Given the description of an element on the screen output the (x, y) to click on. 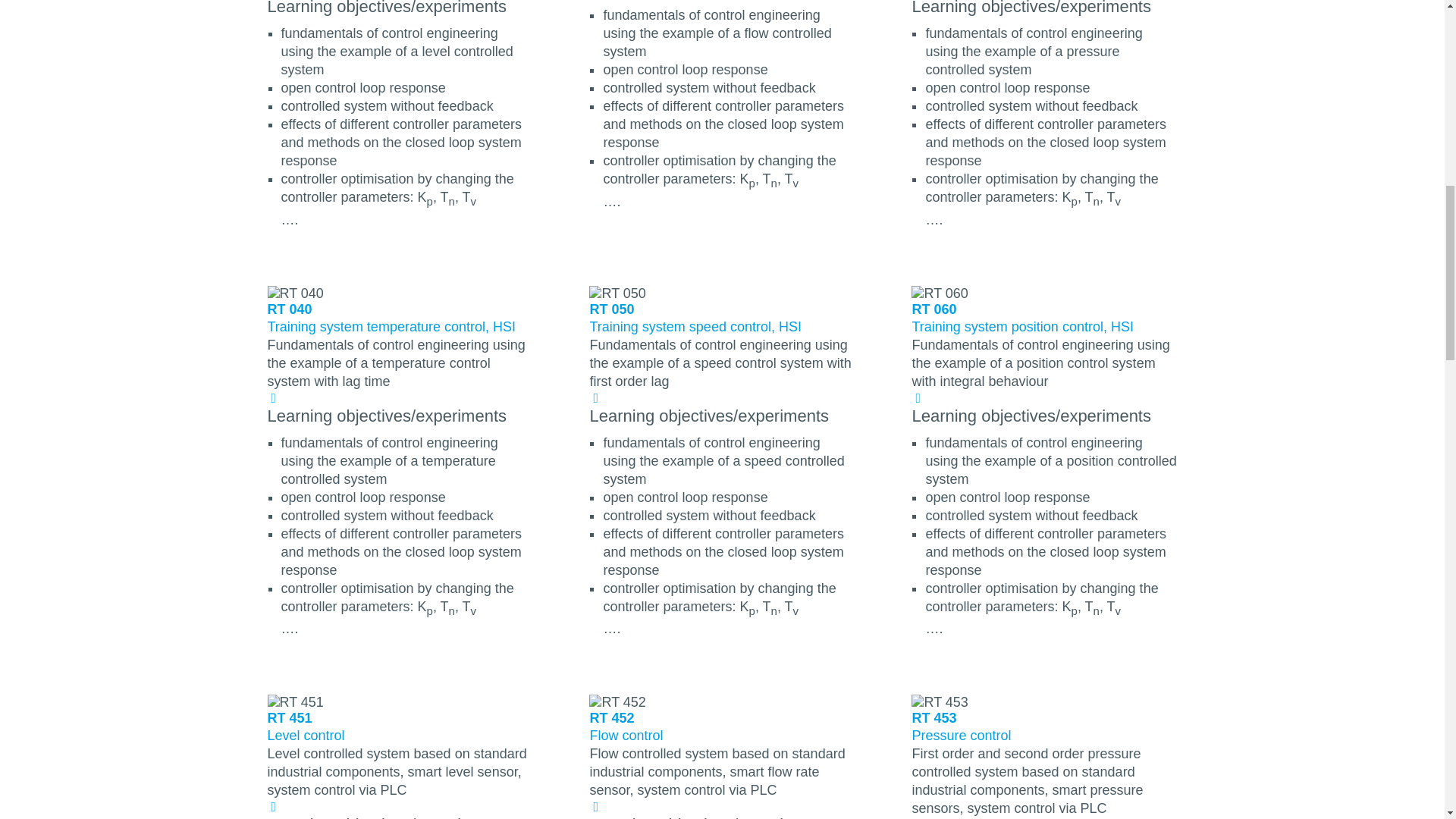
RT 453 (939, 702)
RT 452 (617, 702)
RT 050 (617, 293)
RT 040 (294, 293)
RT 451 (294, 702)
RT 060 (939, 293)
